Given the description of an element on the screen output the (x, y) to click on. 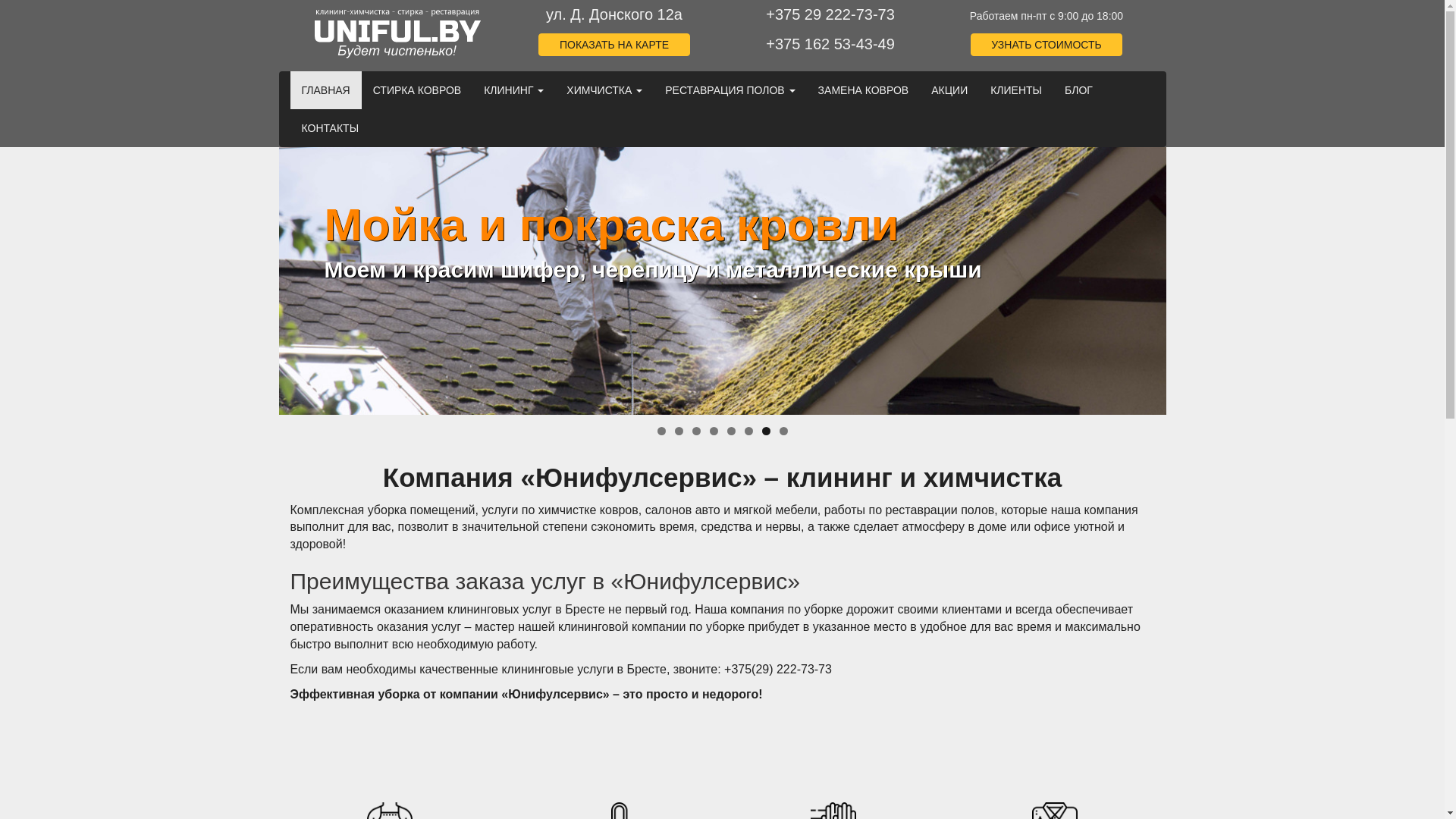
2 Element type: text (678, 430)
5 Element type: text (730, 430)
1 Element type: text (660, 430)
6 Element type: text (748, 430)
+375 29 222-73-73 Element type: text (830, 14)
7 Element type: text (765, 430)
3 Element type: text (695, 430)
4 Element type: text (713, 430)
moika-krovli Element type: hover (722, 263)
+375 162 53-43-49 Element type: text (830, 44)
8 Element type: text (783, 430)
